Given the description of an element on the screen output the (x, y) to click on. 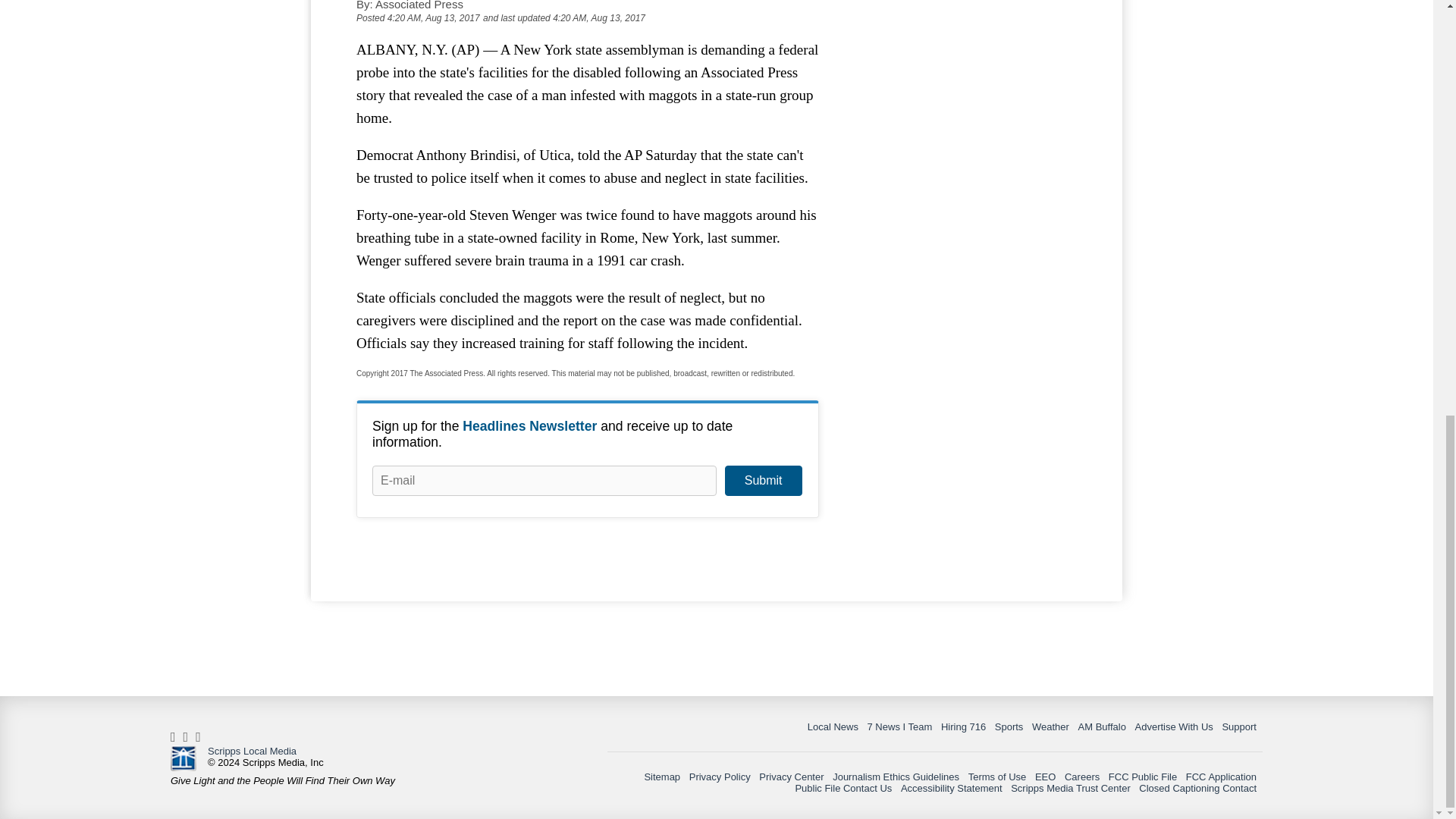
Submit (763, 481)
